Given the description of an element on the screen output the (x, y) to click on. 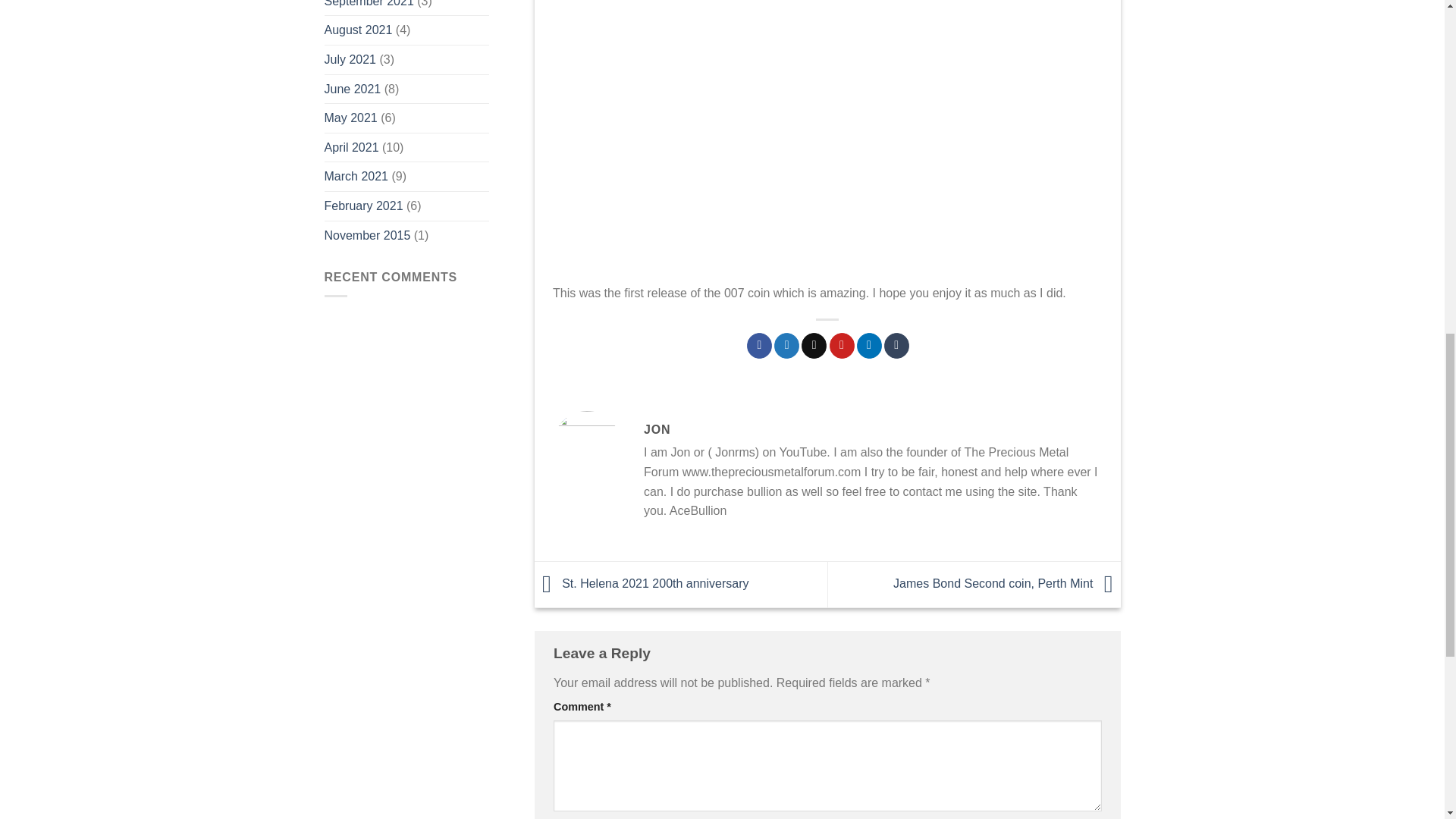
Share on Twitter (786, 345)
Pin on Pinterest (841, 345)
Share on LinkedIn (869, 345)
Email to a Friend (814, 345)
Share on Tumblr (895, 345)
Share on Facebook (758, 345)
